Given the description of an element on the screen output the (x, y) to click on. 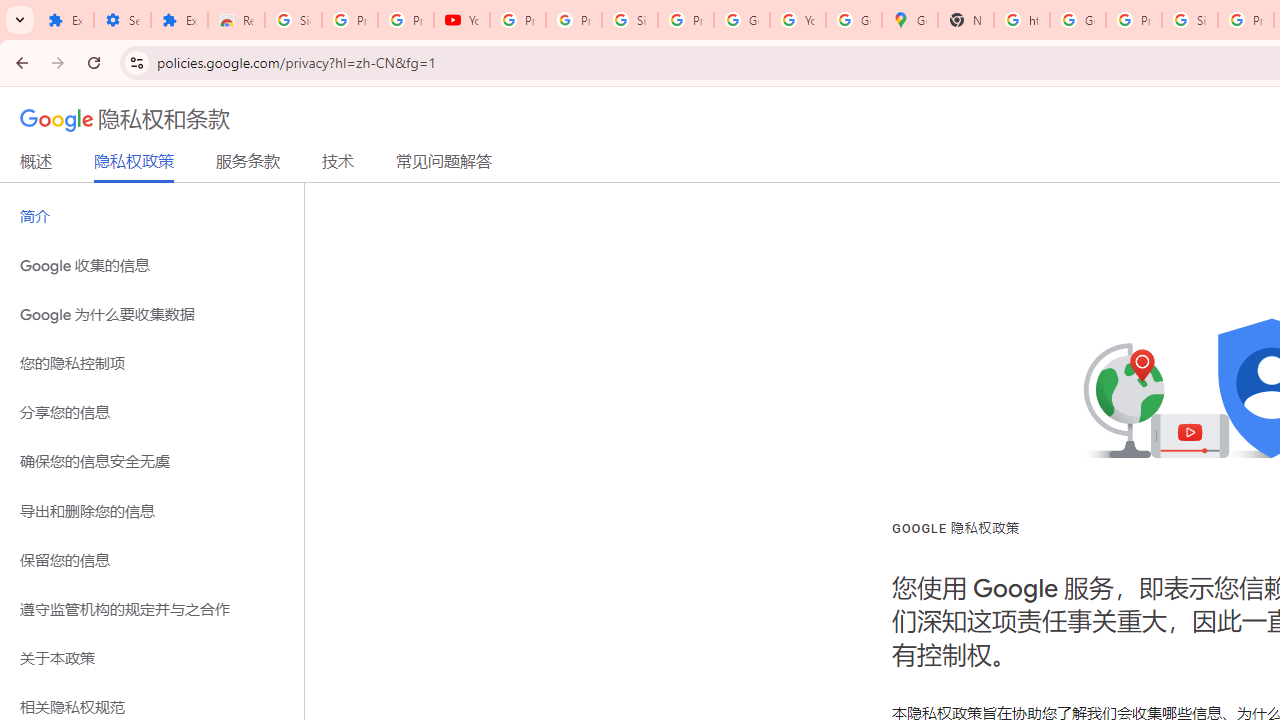
Google Maps (909, 20)
YouTube (461, 20)
Sign in - Google Accounts (1190, 20)
Extensions (65, 20)
https://scholar.google.com/ (1021, 20)
Sign in - Google Accounts (293, 20)
